Given the description of an element on the screen output the (x, y) to click on. 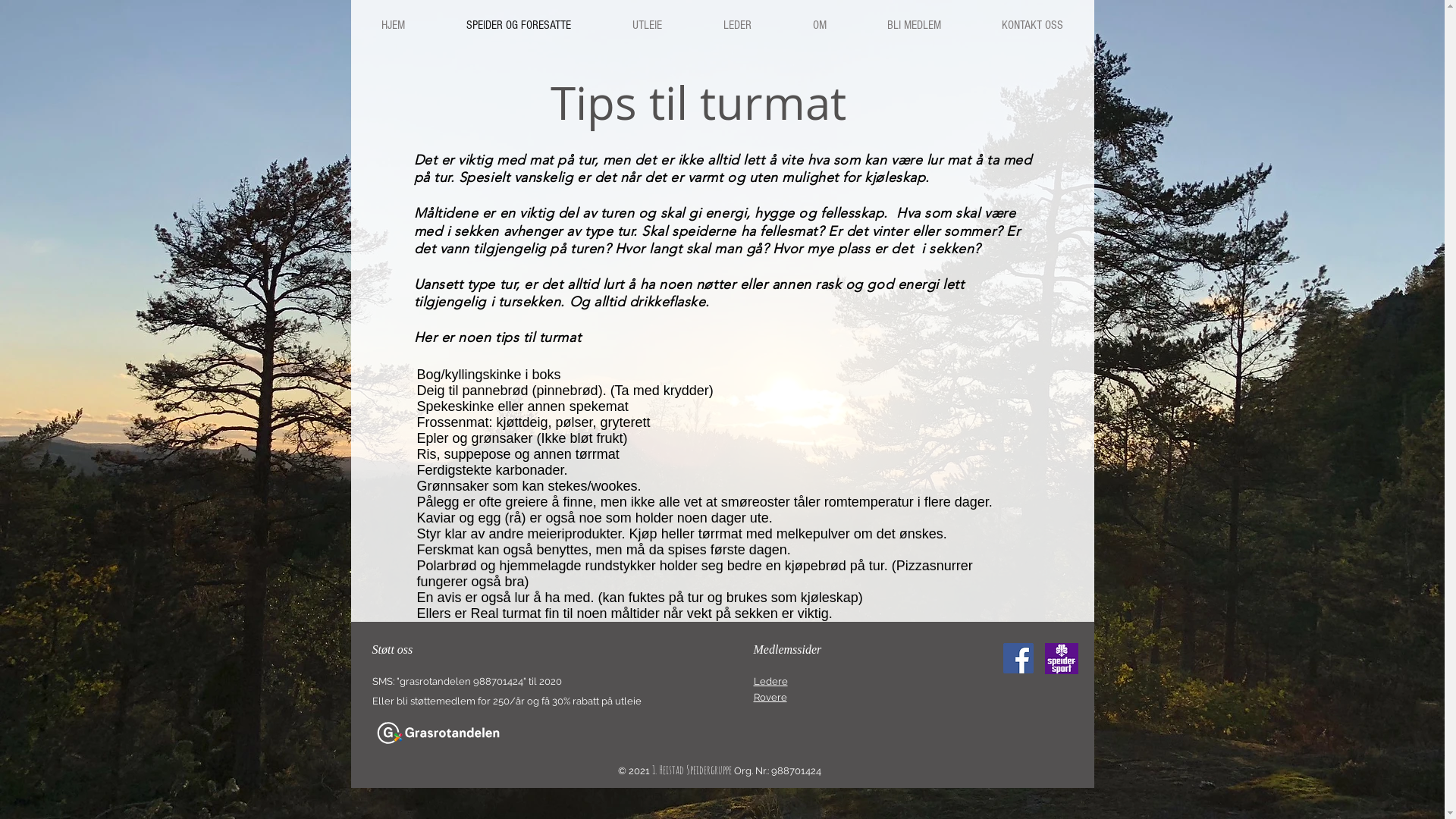
BLI MEDLEM Element type: text (913, 25)
KONTAKT OSS Element type: text (1031, 25)
Speidersport Element type: hover (1061, 658)
OM Element type: text (818, 25)
Ledere Element type: text (770, 681)
Rovere Element type: text (770, 696)
UTLEIE Element type: text (645, 25)
LEDER Element type: text (736, 25)
HJEM Element type: text (392, 25)
SPEIDER OG FORESATTE Element type: text (518, 25)
